Given the description of an element on the screen output the (x, y) to click on. 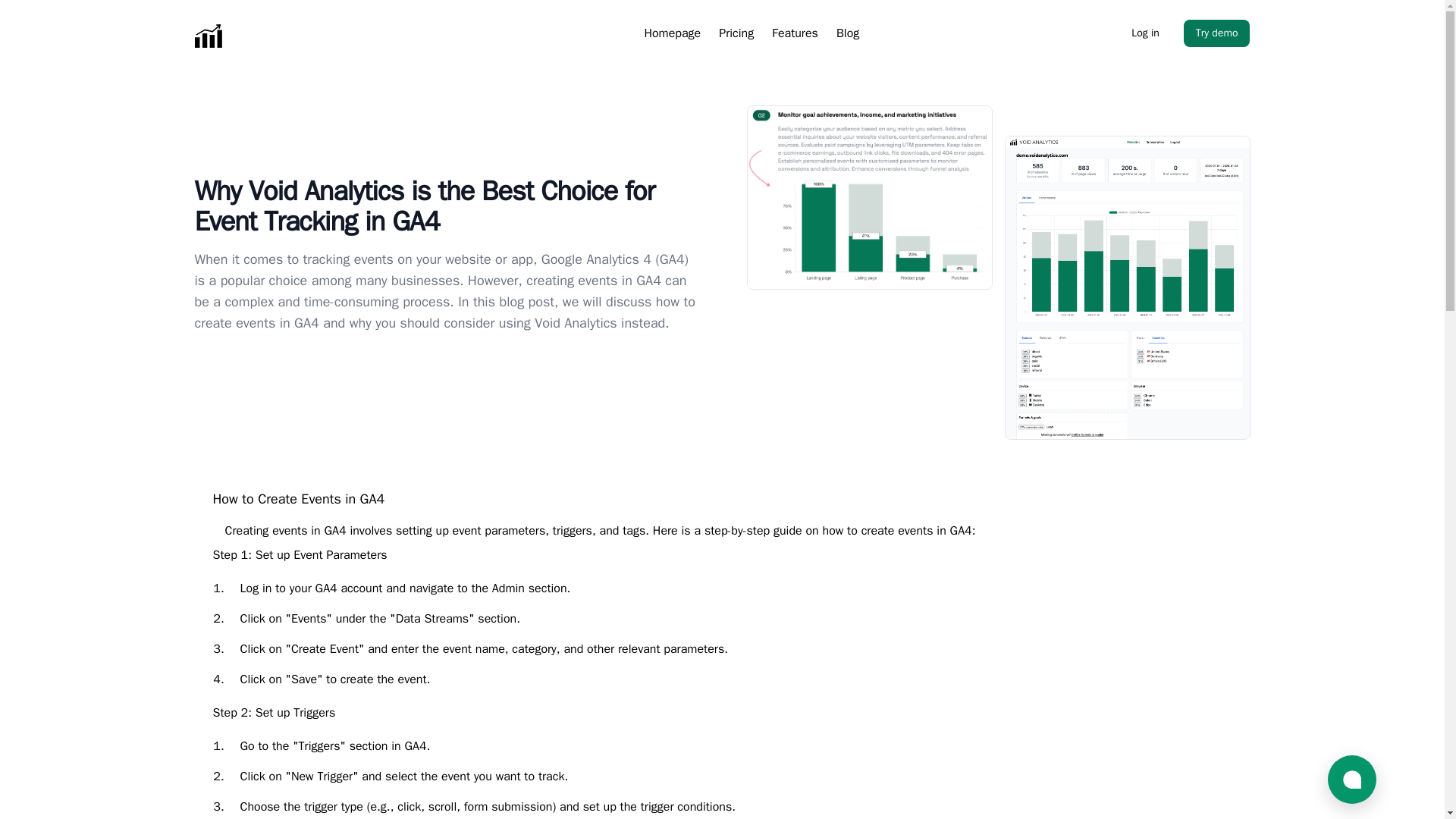
Features (794, 33)
Blog (847, 33)
Log in (1145, 32)
Void Analytics logo (288, 35)
Pricing (736, 33)
Homepage (671, 33)
Try demo (1216, 32)
Open chat window (1351, 779)
